Given the description of an element on the screen output the (x, y) to click on. 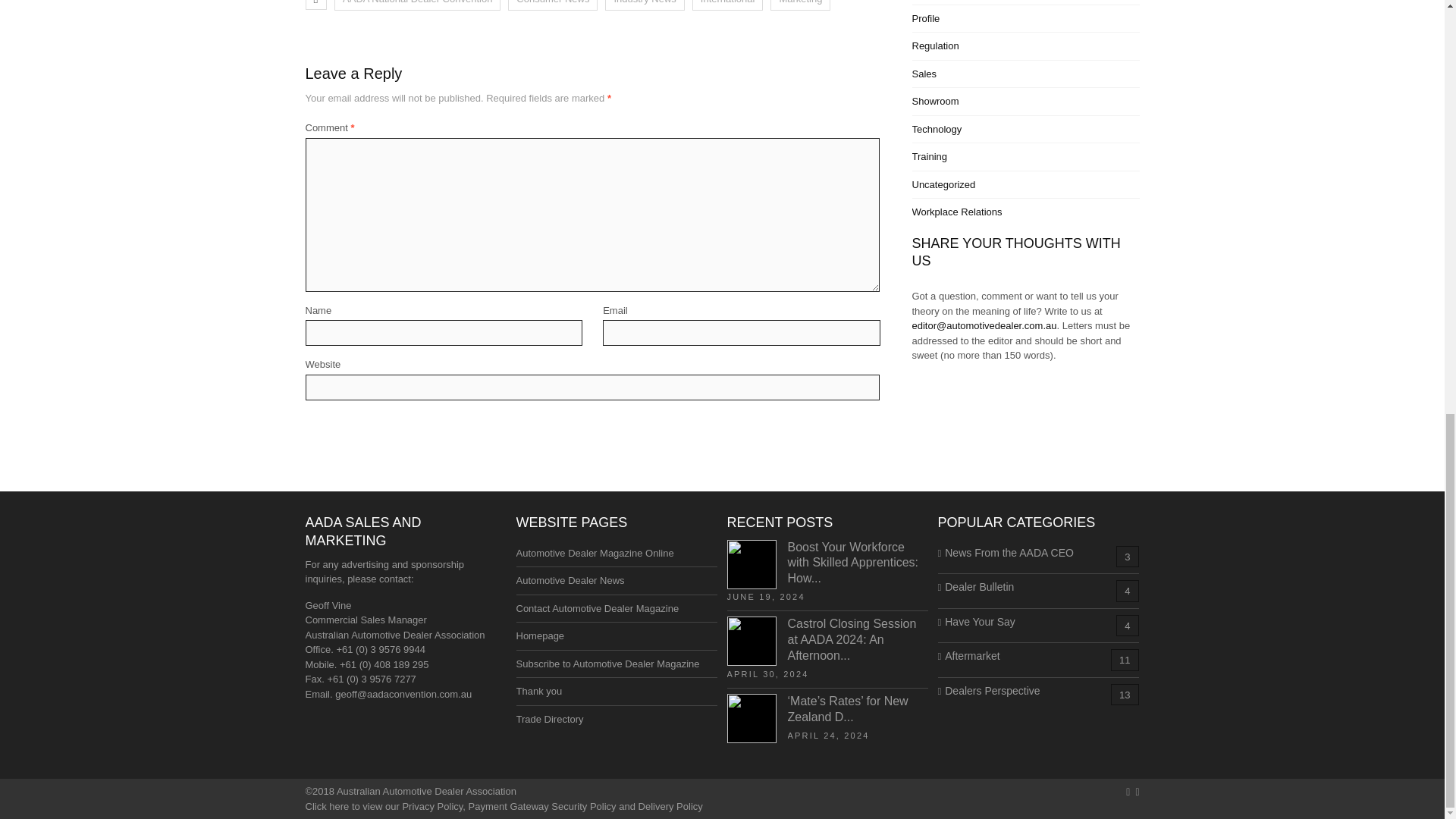
Showroom (934, 101)
Profile (925, 18)
Technology (935, 129)
Regulation (934, 45)
Industry News (644, 5)
Uncategorized (943, 184)
Marketing (799, 5)
AADA National Dealer Convention (417, 5)
Post Comment (346, 429)
International (727, 5)
